Given the description of an element on the screen output the (x, y) to click on. 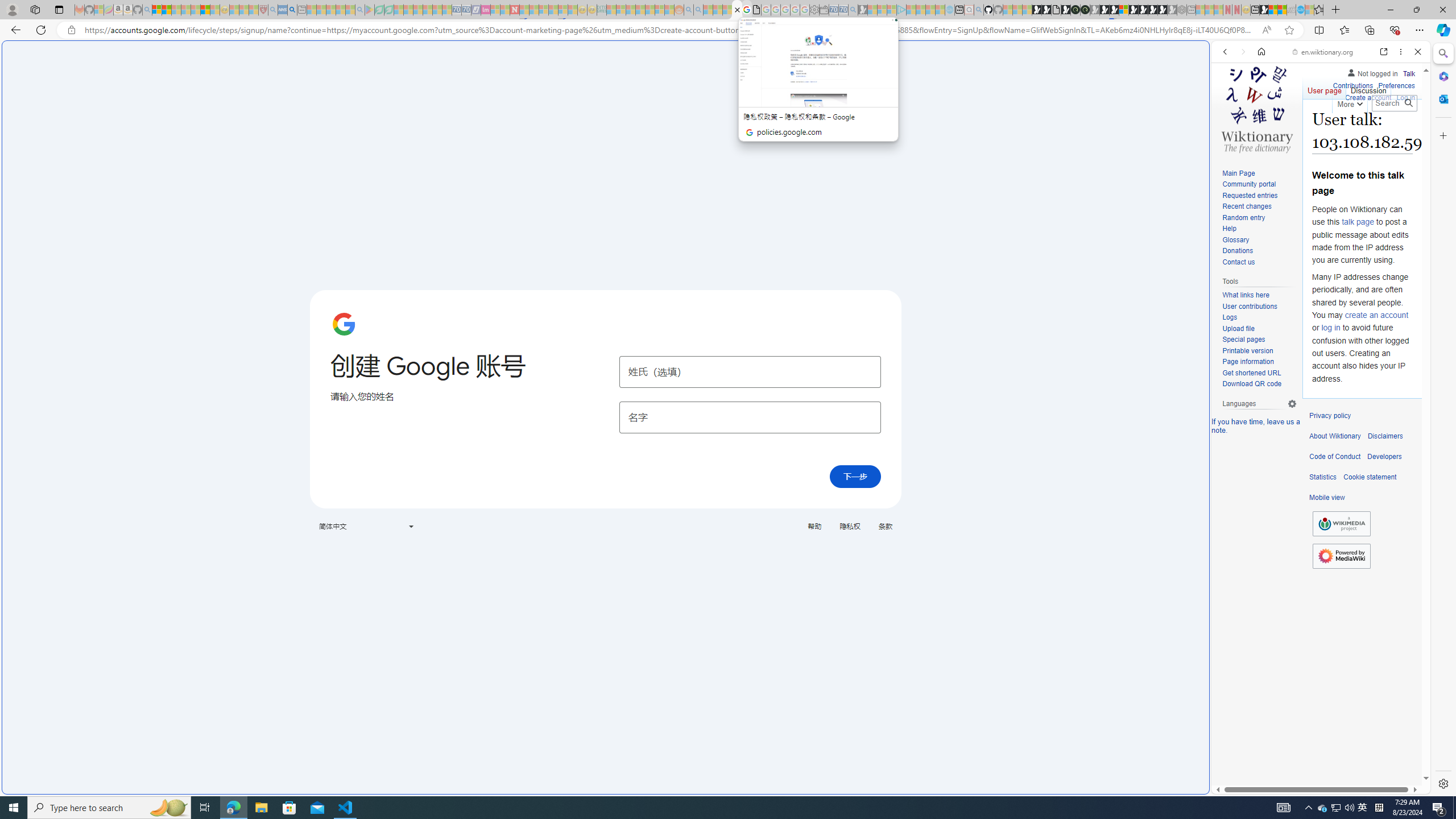
Main Page (1259, 173)
Donations (1237, 250)
utah sues federal government - Search (922, 389)
Code of Conduct (1334, 456)
Language settings (1292, 403)
Services - Maintenance | Sky Blue Bikes - Sky Blue Bikes (1300, 9)
Tabs you've opened (885, 151)
Logs (1229, 317)
Future Focus Report 2024 (1084, 9)
